Given the description of an element on the screen output the (x, y) to click on. 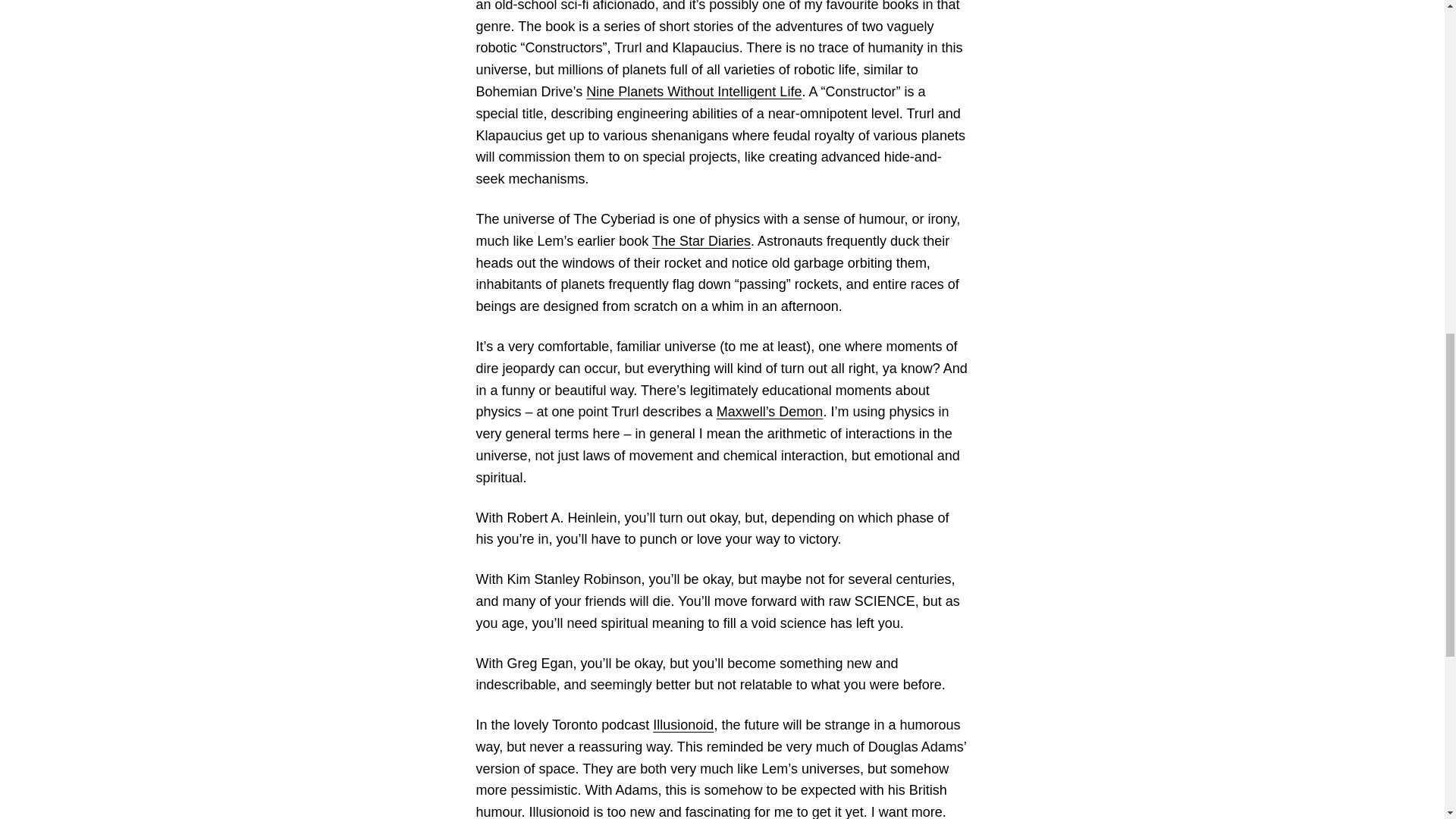
Illusionoid (682, 724)
Nine Planets Without Intelligent Life (694, 91)
The Star Diaries (701, 240)
